Given the description of an element on the screen output the (x, y) to click on. 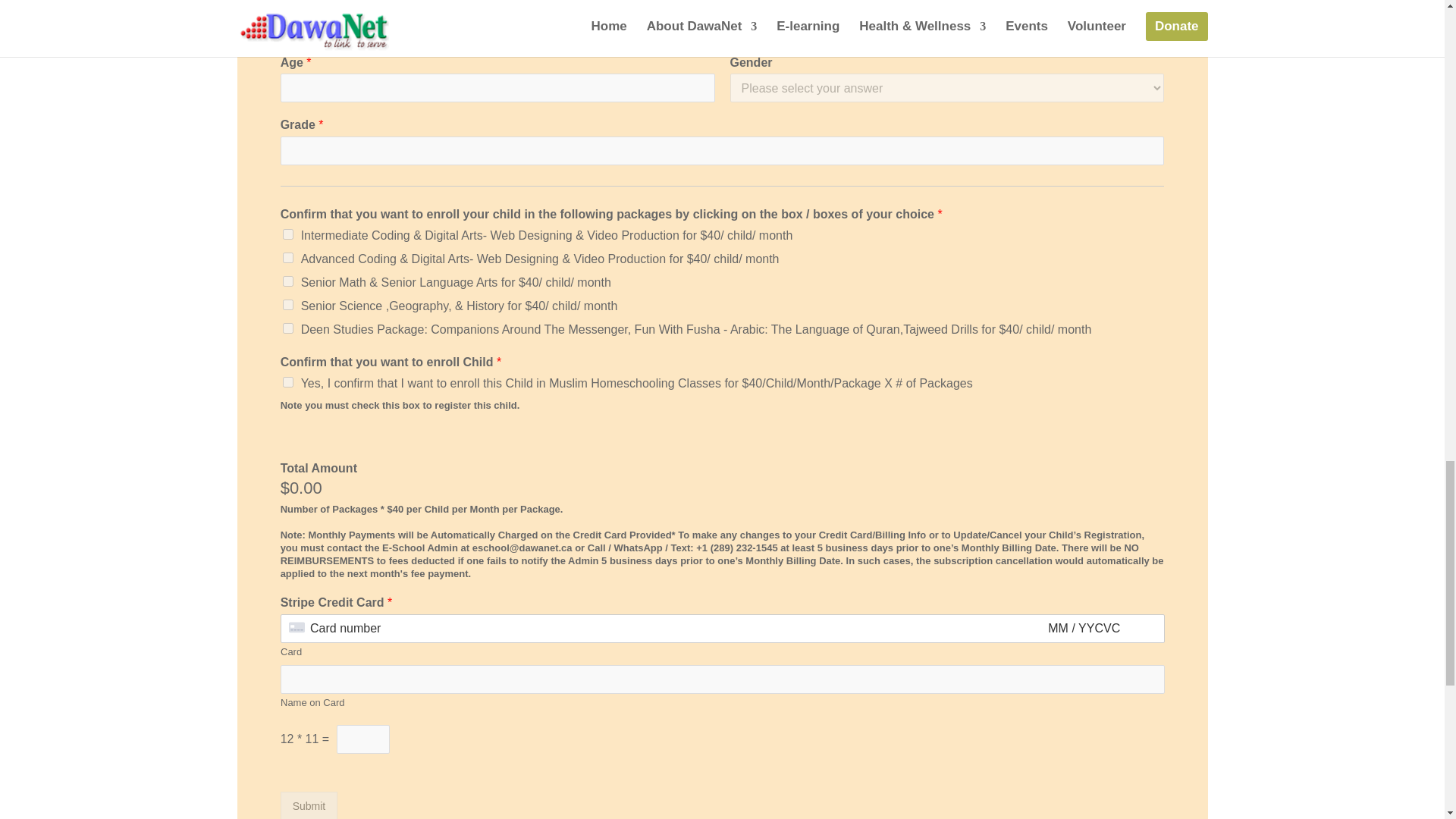
8 (288, 327)
4 (288, 257)
2 (288, 234)
Submit (309, 805)
Secure card payment input frame (722, 628)
6 (288, 281)
7 (288, 304)
